Given the description of an element on the screen output the (x, y) to click on. 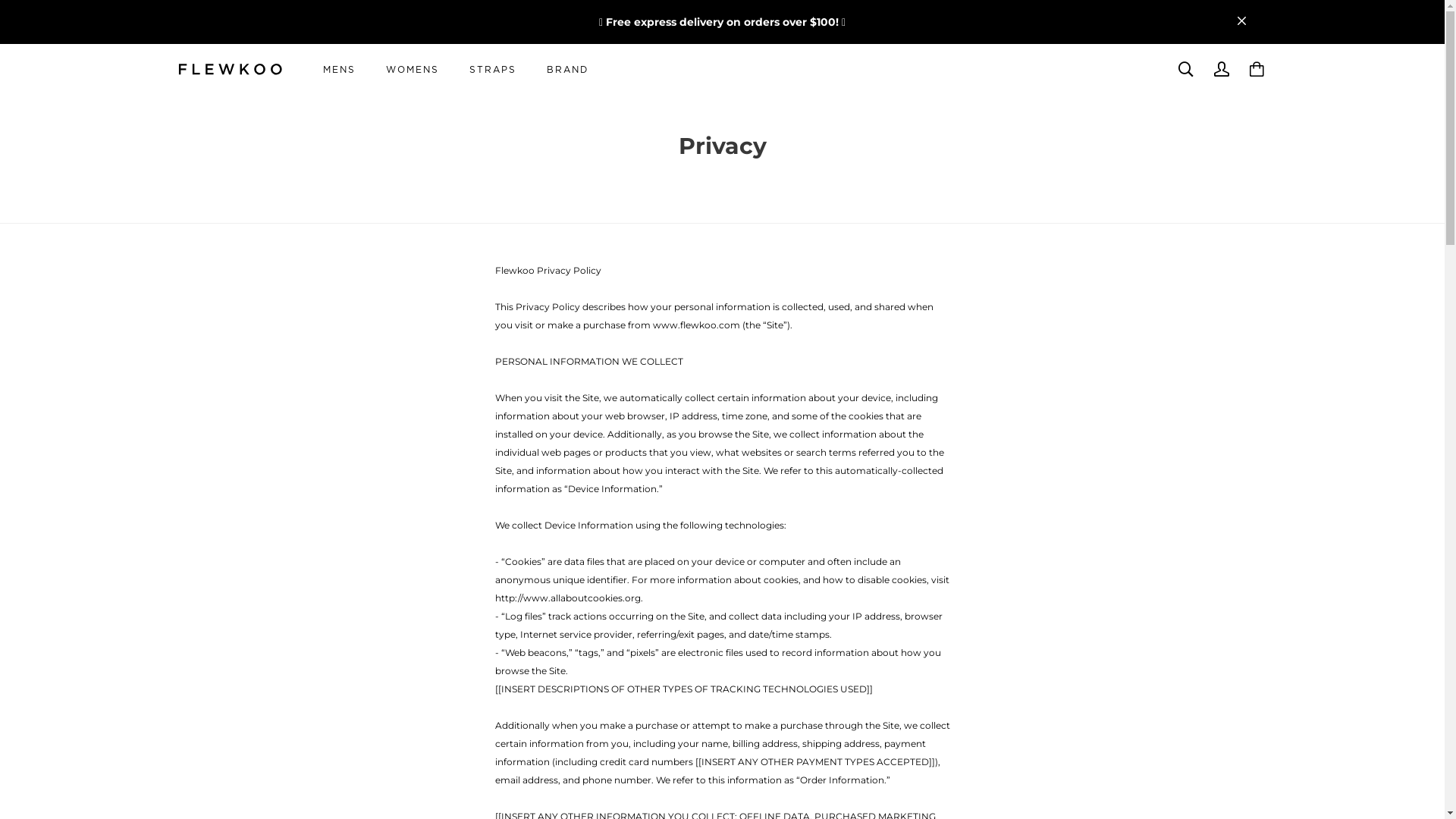
BRAND Element type: text (566, 69)
STRAPS Element type: text (492, 69)
WOMENS Element type: text (411, 69)
MENS Element type: text (339, 69)
